Given the description of an element on the screen output the (x, y) to click on. 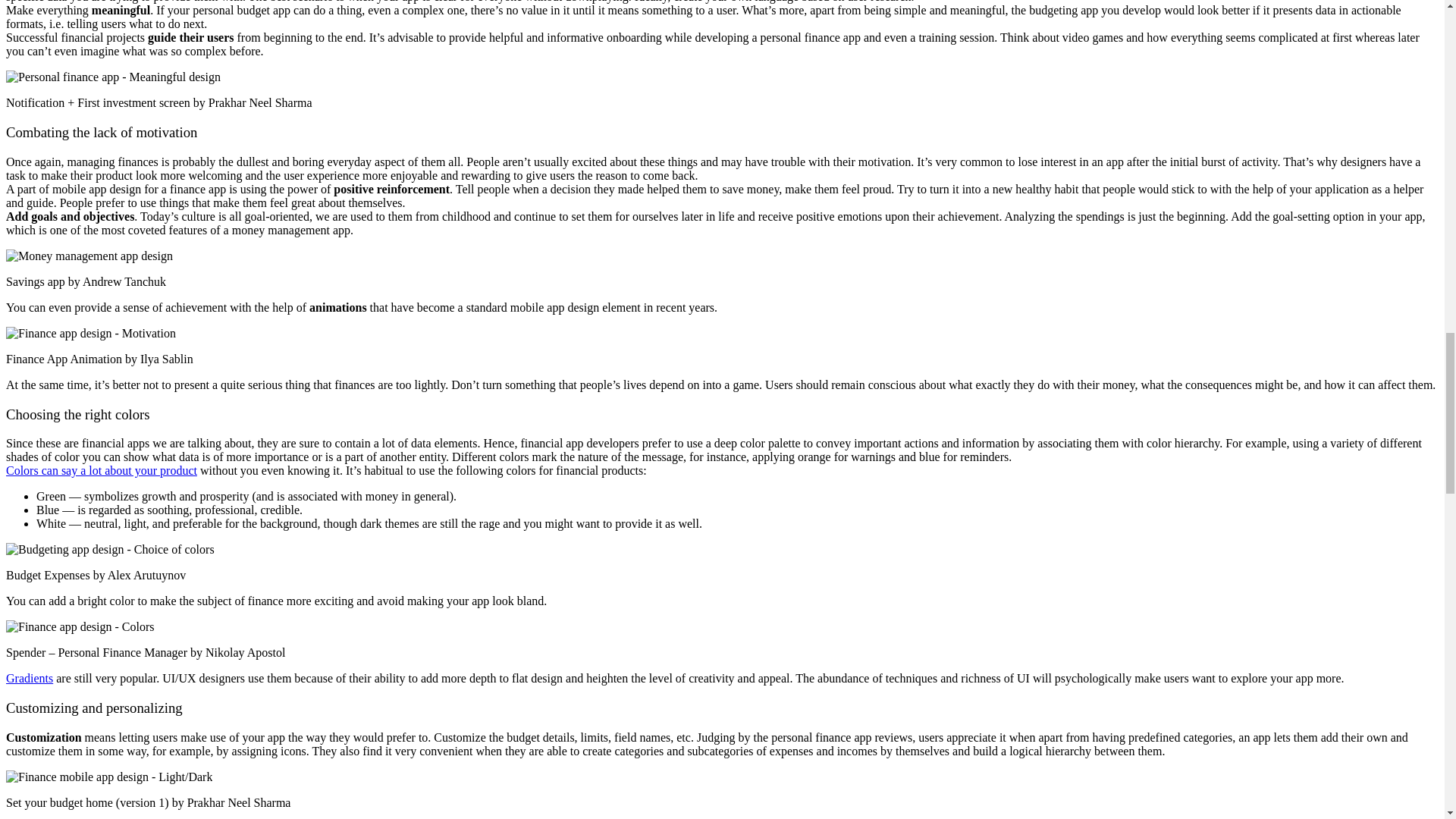
Colors can say a lot about your product (100, 470)
Gradients (28, 677)
